Given the description of an element on the screen output the (x, y) to click on. 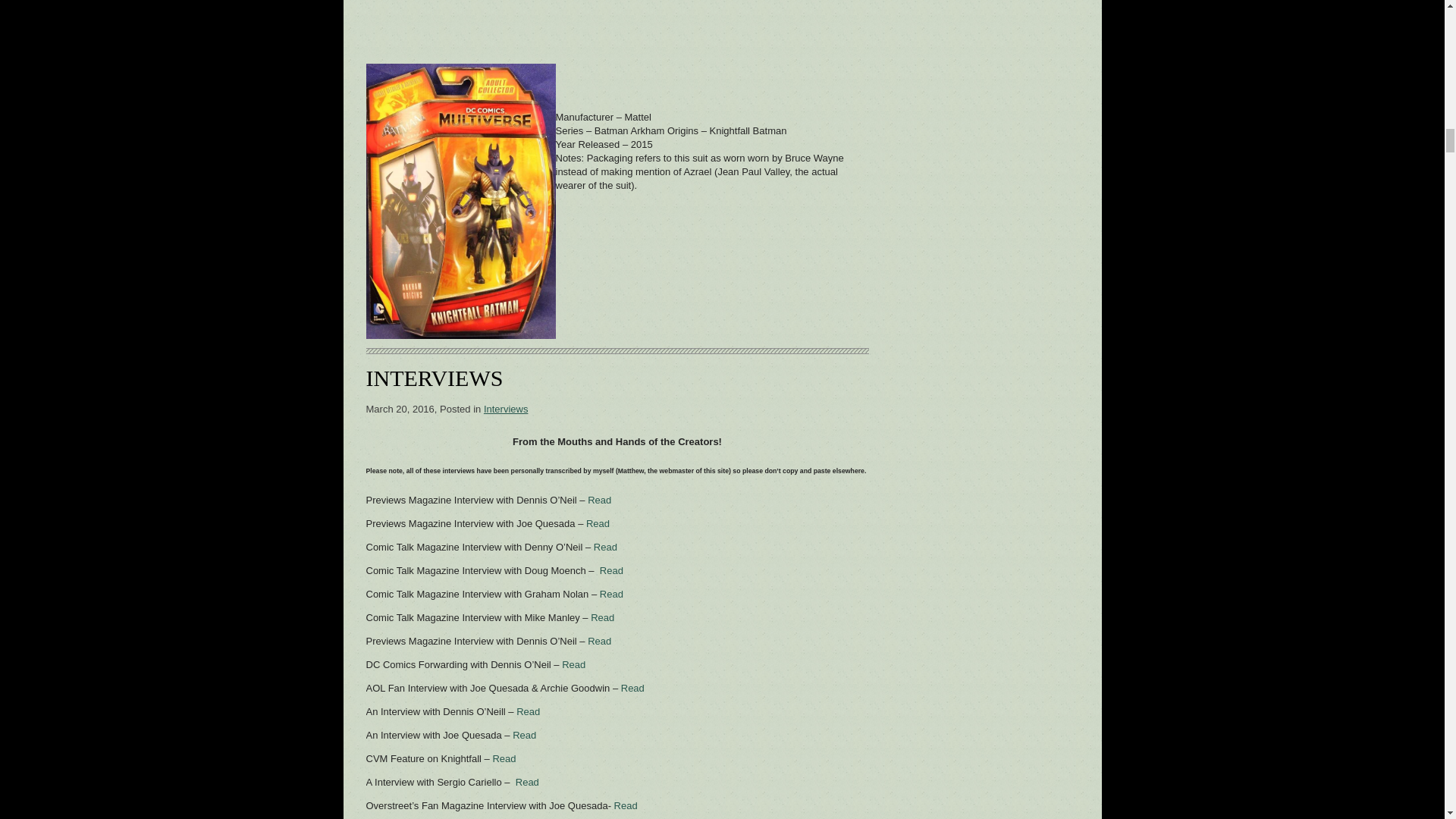
Permalink to Interviews (433, 377)
